Given the description of an element on the screen output the (x, y) to click on. 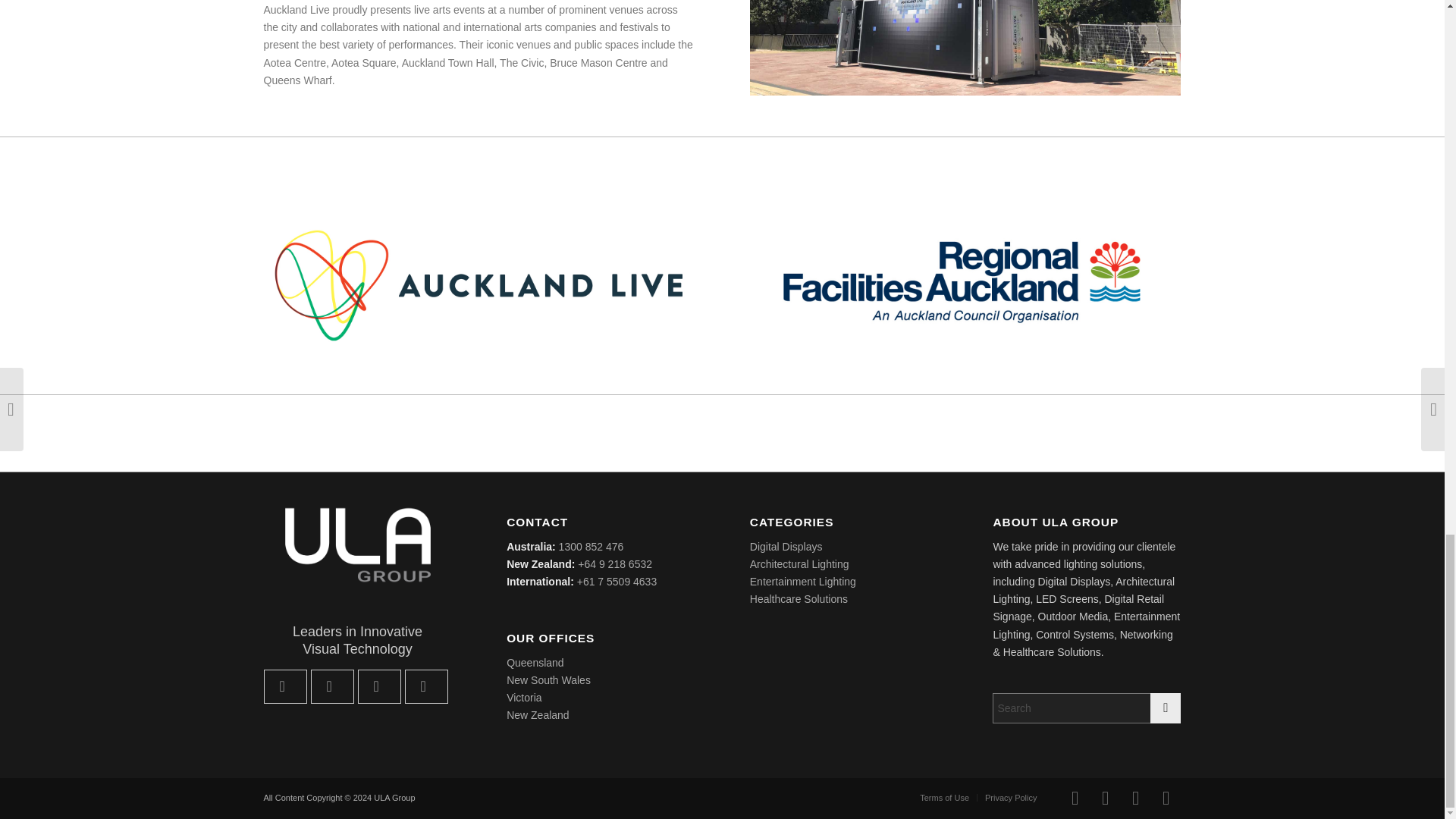
1300 852 476 (591, 546)
Privacy Policy (1010, 797)
New Zealand (537, 715)
Architectural Lighting (798, 563)
New South Wales (548, 680)
Queensland (535, 662)
Digital Displays (785, 546)
logo-2 (964, 284)
Terms of Use (944, 797)
Victoria (523, 697)
Logo-1 (479, 284)
Entertainment Lighting (802, 581)
Healthcare Solutions (798, 598)
